Given the description of an element on the screen output the (x, y) to click on. 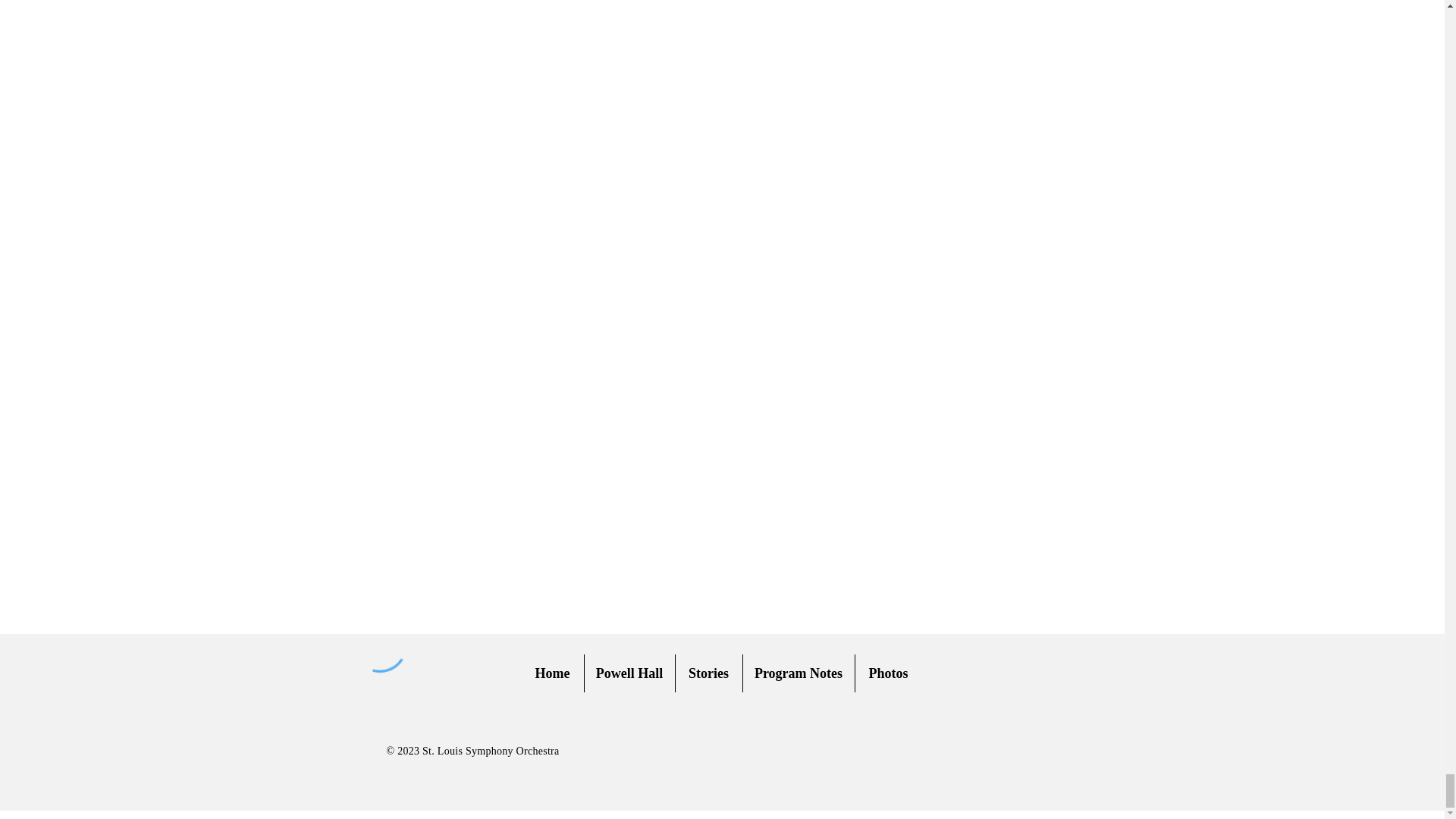
Powell Hall (628, 673)
Program Notes (798, 673)
Home (552, 673)
Photos (888, 673)
Stories (708, 673)
